Given the description of an element on the screen output the (x, y) to click on. 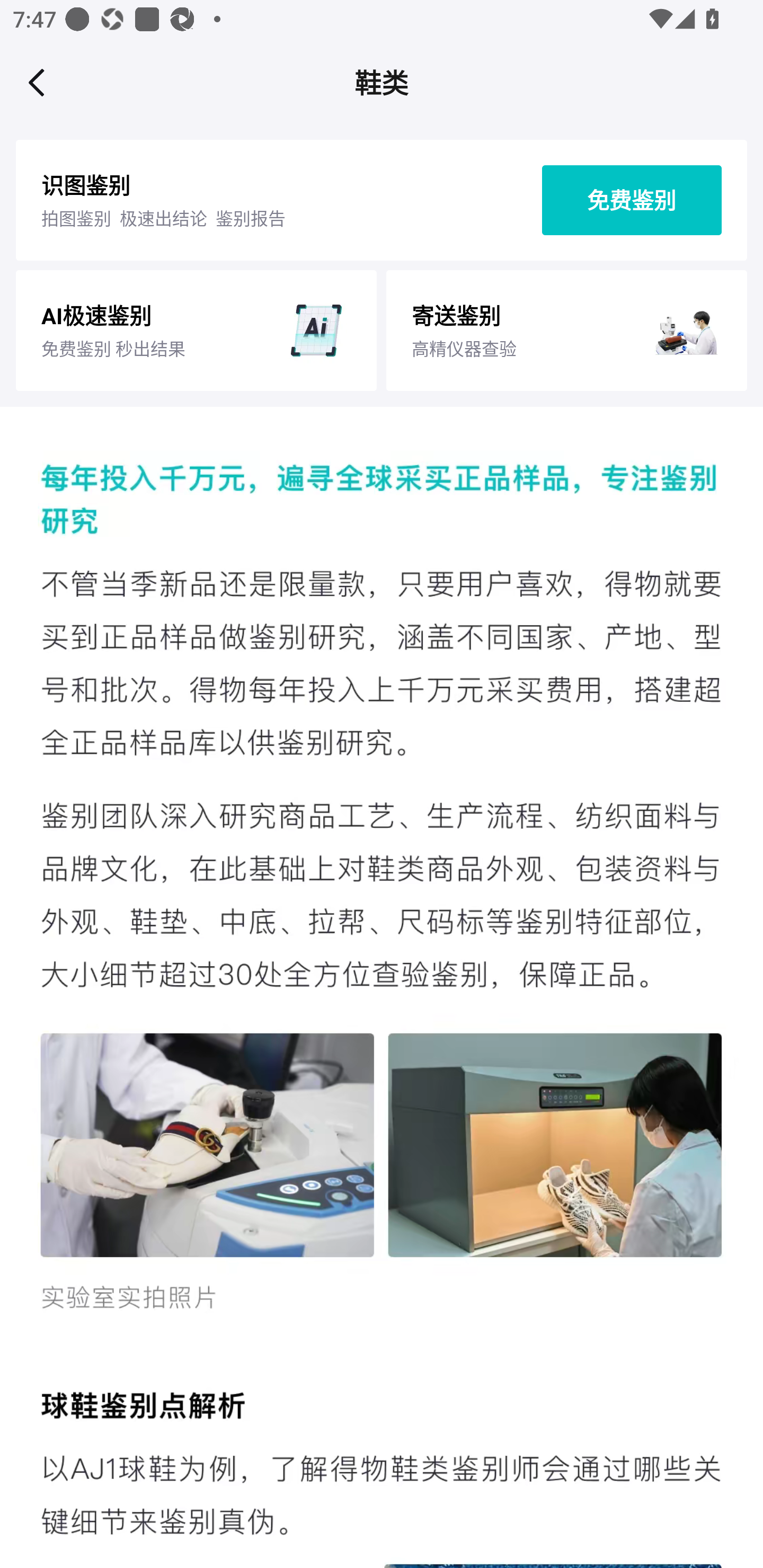
Navigate up (36, 82)
免费鉴别 (631, 199)
AI极速鉴别 免费鉴别 秒出结果 (196, 329)
寄送鉴别 高精仪器查验 (566, 329)
